Given the description of an element on the screen output the (x, y) to click on. 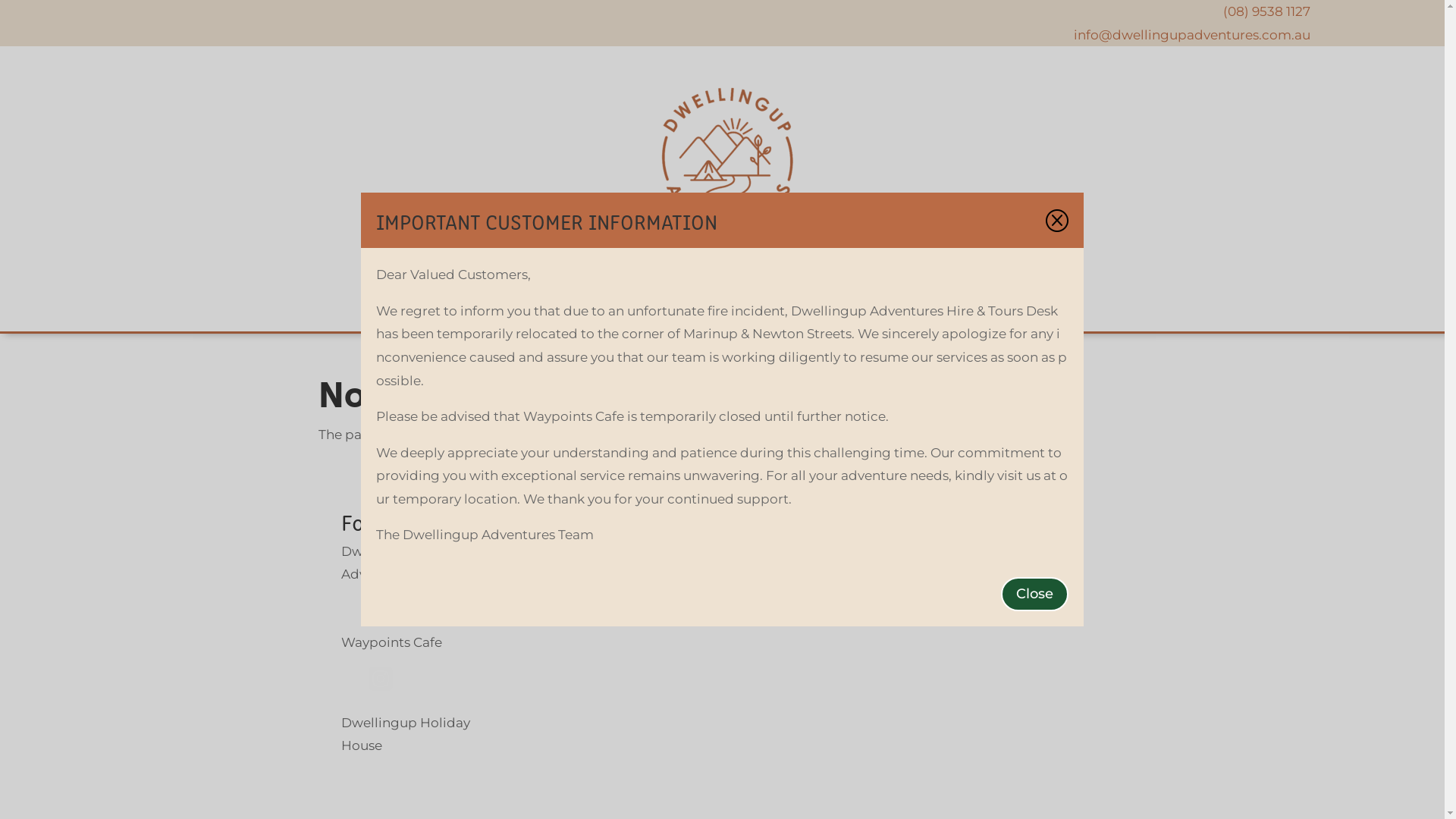
Facilities Element type: text (772, 302)
Waypoints Cafe Element type: text (884, 302)
Follow Waypoints Cafe on Instagram Element type: hover (380, 685)
Camps Element type: text (643, 302)
Follow Dwellingup Adventures on Instagram Element type: hover (380, 605)
Follow Dwellingup Adventures on Facebook Element type: hover (353, 605)
Play Element type: text (579, 302)
Follow Waypoints Cafe on Facebook Element type: hover (353, 685)
Follow Dwellingup Holiday House on Facebook Element type: hover (353, 776)
Contact Us Element type: text (997, 302)
About Element type: text (509, 302)
Home Element type: text (440, 302)
Close Element type: text (1034, 594)
Stay Element type: text (701, 302)
